Given the description of an element on the screen output the (x, y) to click on. 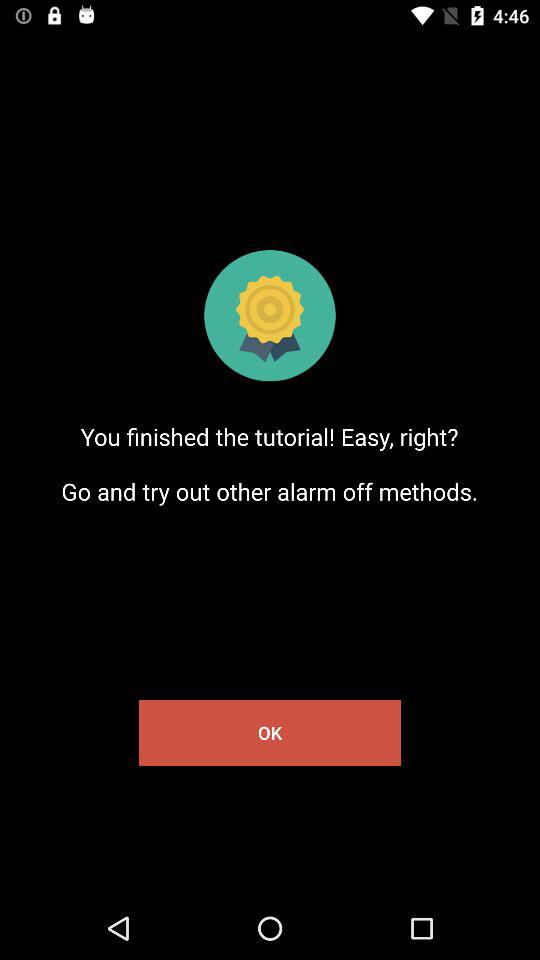
swipe until the ok item (269, 732)
